Given the description of an element on the screen output the (x, y) to click on. 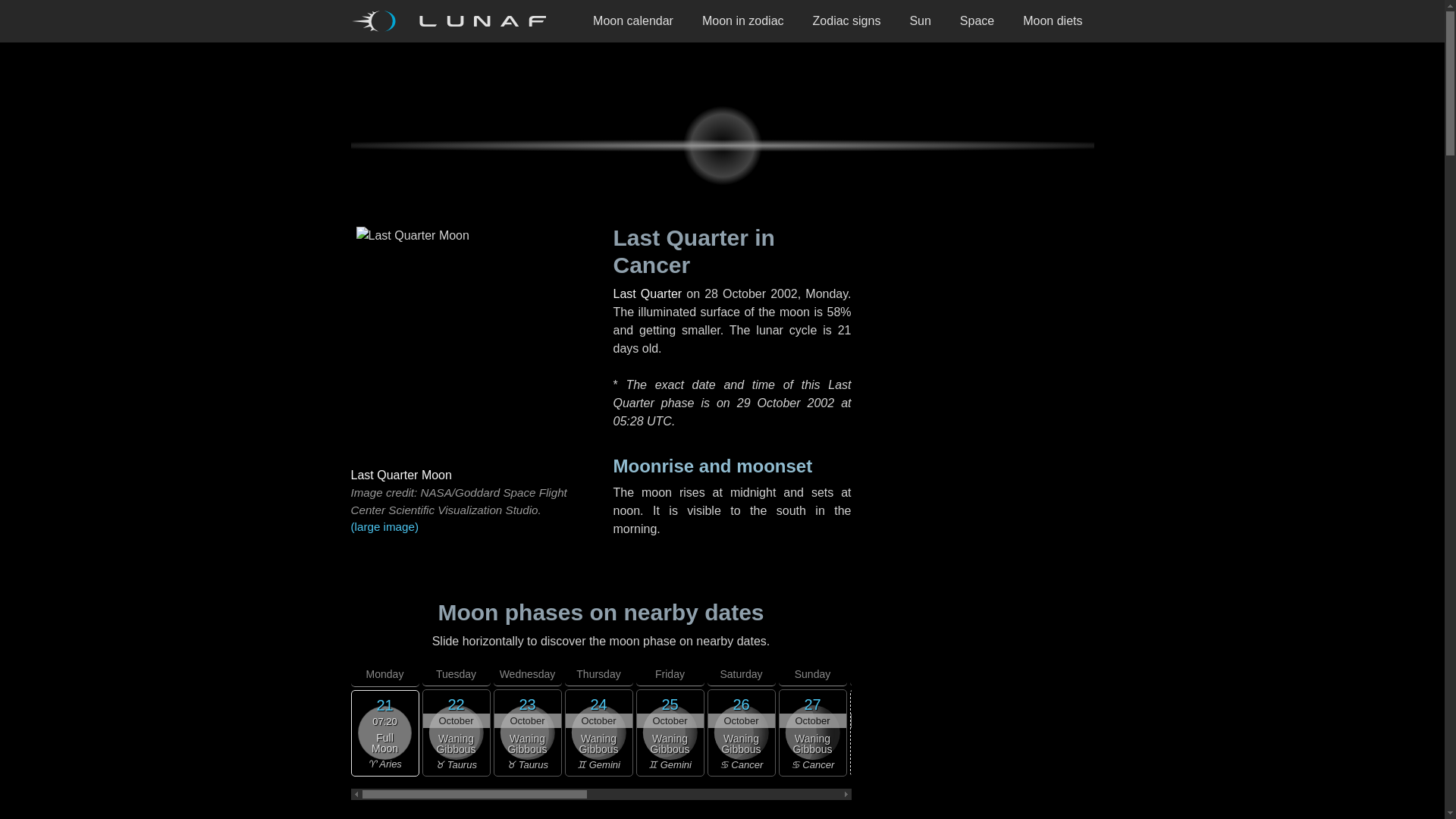
Moon diets (1052, 21)
Moon calendar (632, 21)
Sun (920, 21)
Moon diets (1052, 21)
Sun (920, 21)
Lunaf (453, 21)
Space (977, 21)
Moon in zodiac (742, 21)
Moon in zodiac (742, 21)
Space (977, 21)
Zodiac signs (847, 21)
Large image PNG: Last Quarter Moon (469, 527)
Moon calendar (632, 21)
Zodiac signs (847, 21)
